Given the description of an element on the screen output the (x, y) to click on. 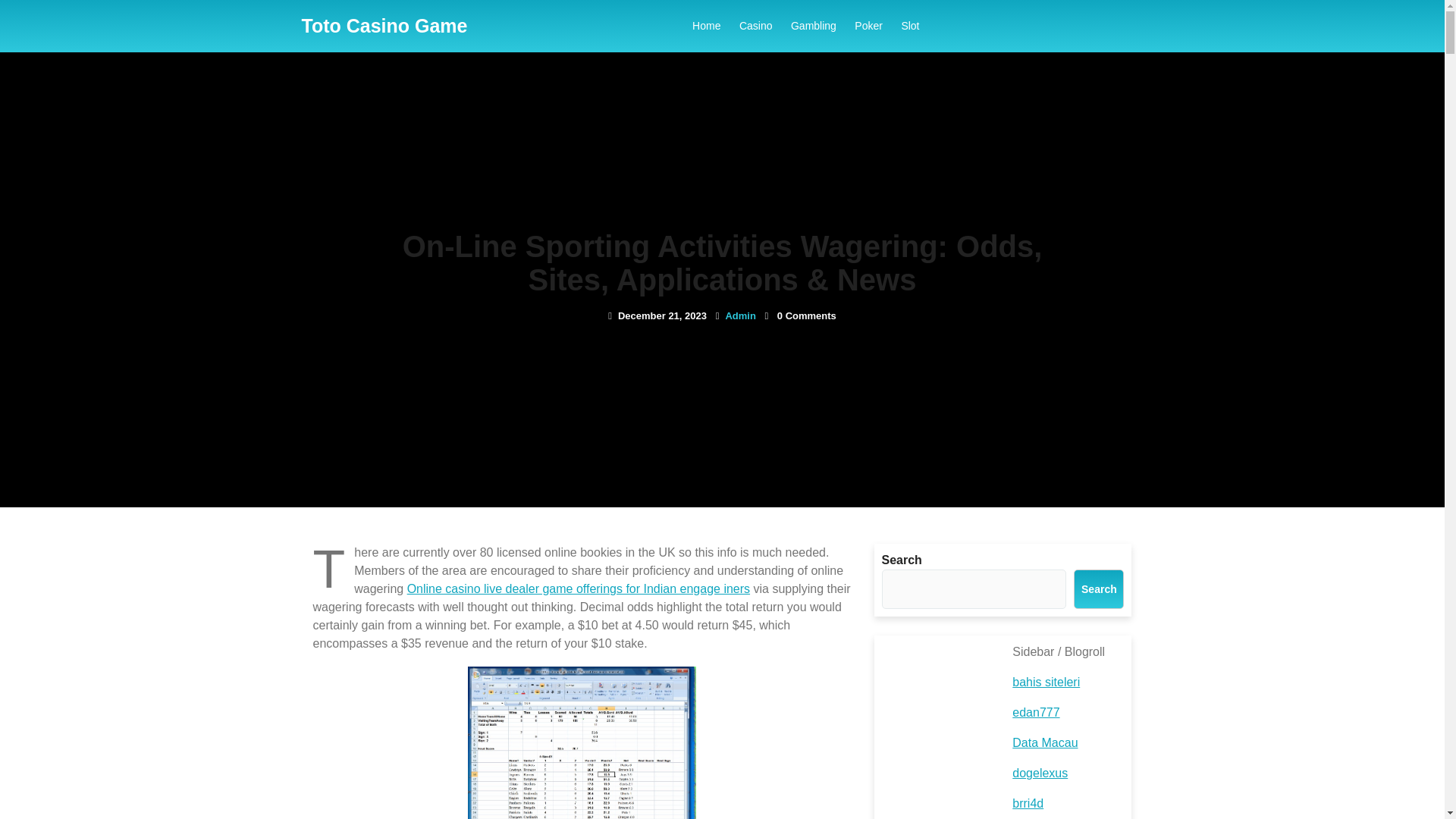
edan777 (1035, 712)
dogelexus (1039, 772)
Poker (868, 26)
Data Macau (1044, 742)
Slot (909, 26)
Casino (756, 26)
Admin (740, 315)
brri4d (1027, 802)
Search (1099, 589)
Toto Casino Game (384, 25)
bahis siteleri (1045, 681)
Home (706, 26)
Gambling (813, 26)
